Given the description of an element on the screen output the (x, y) to click on. 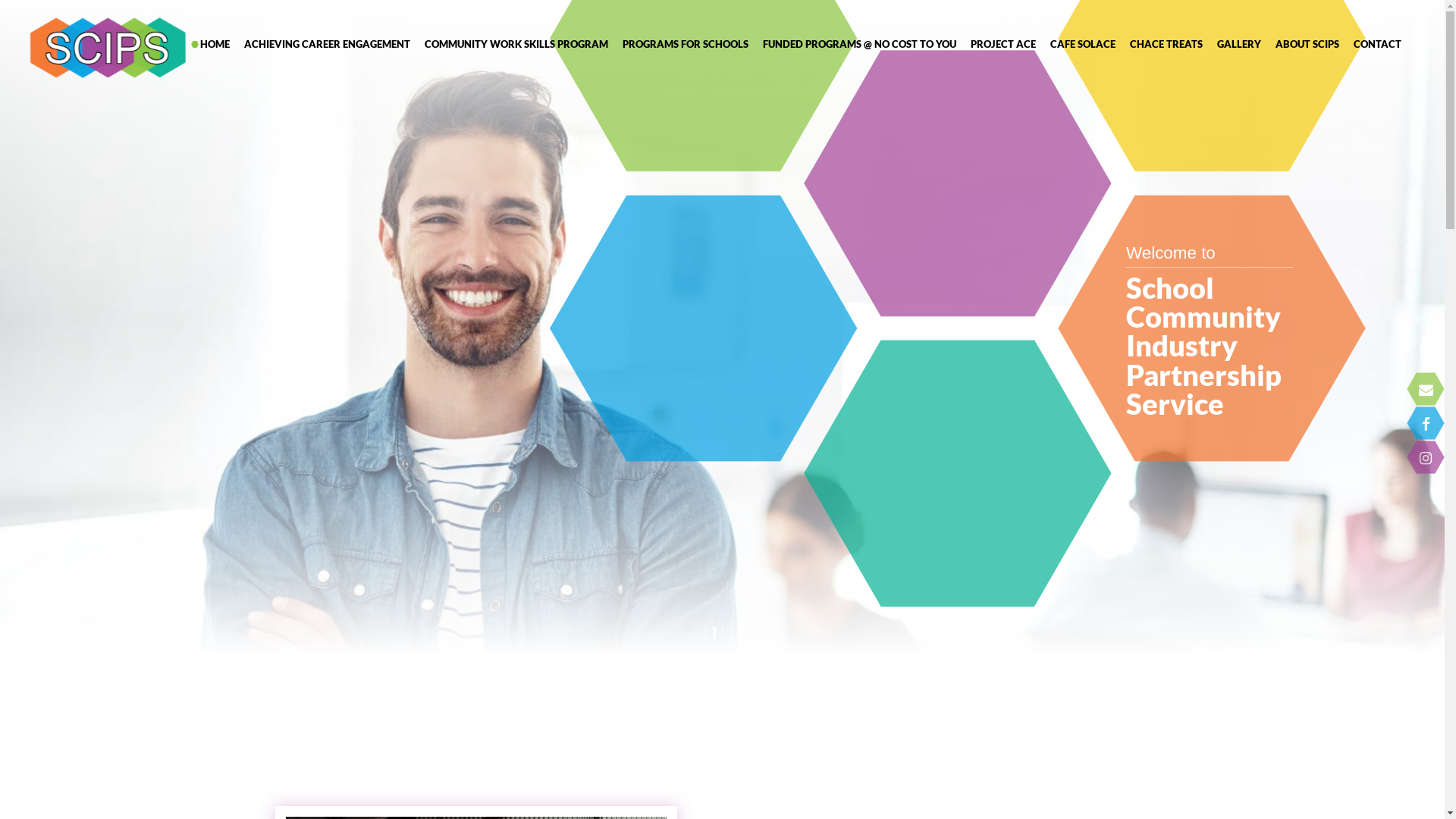
PROGRAMS FOR SCHOOLS Element type: text (683, 43)
ACHIEVING CAREER ENGAGEMENT Element type: text (325, 43)
CAFE SOLACE Element type: text (1080, 43)
GALLERY Element type: text (1237, 43)
CHACE TREATS Element type: text (1164, 43)
COMMUNITY WORK SKILLS PROGRAM Element type: text (514, 43)
PROJECT ACE Element type: text (1001, 43)
HOME Element type: text (213, 43)
FUNDED PROGRAMS @ NO COST TO YOU Element type: text (857, 43)
ABOUT SCIPS Element type: text (1305, 43)
CONTACT Element type: text (1375, 43)
